Given the description of an element on the screen output the (x, y) to click on. 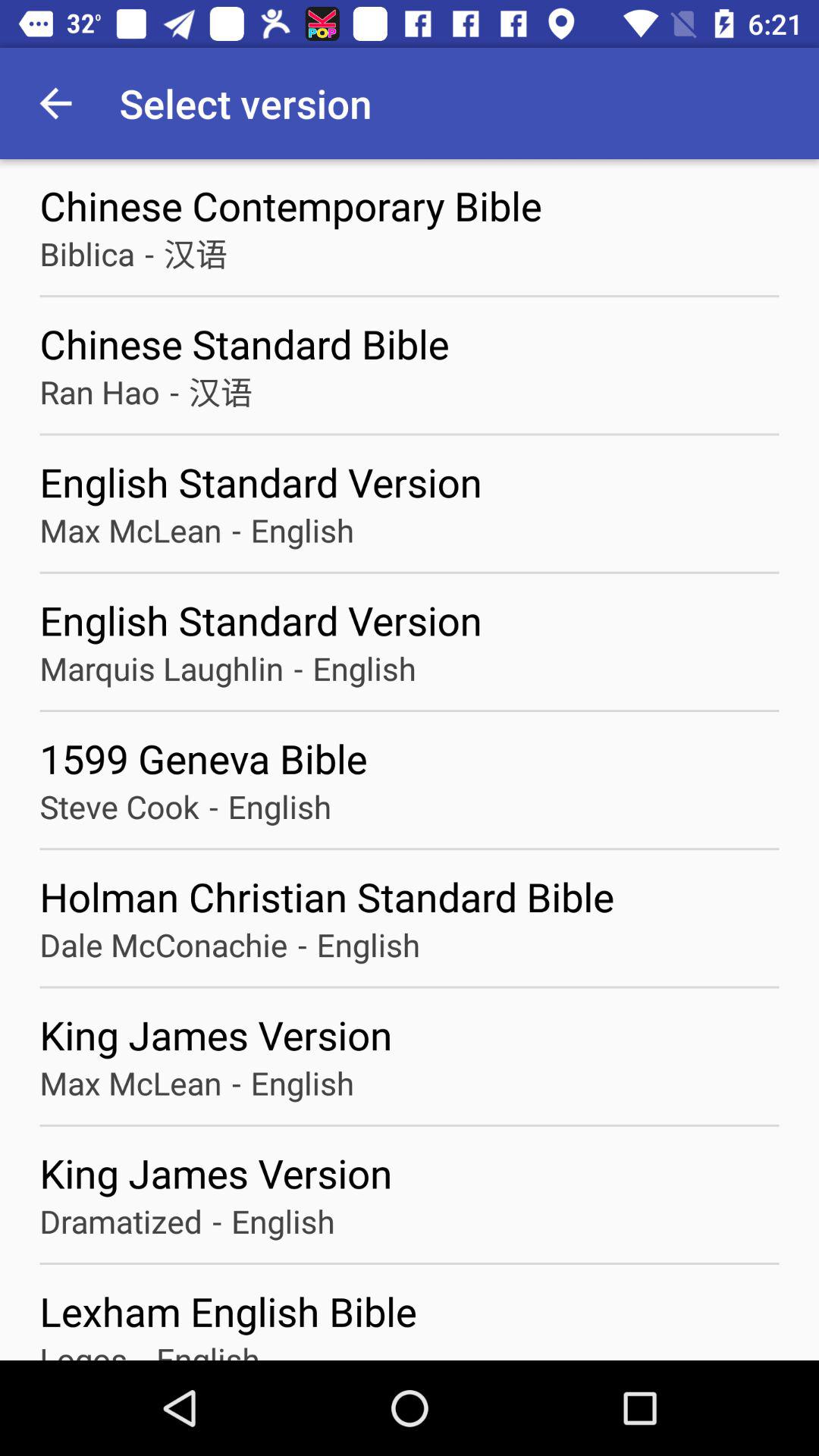
open the icon above the king james version (236, 1082)
